Given the description of an element on the screen output the (x, y) to click on. 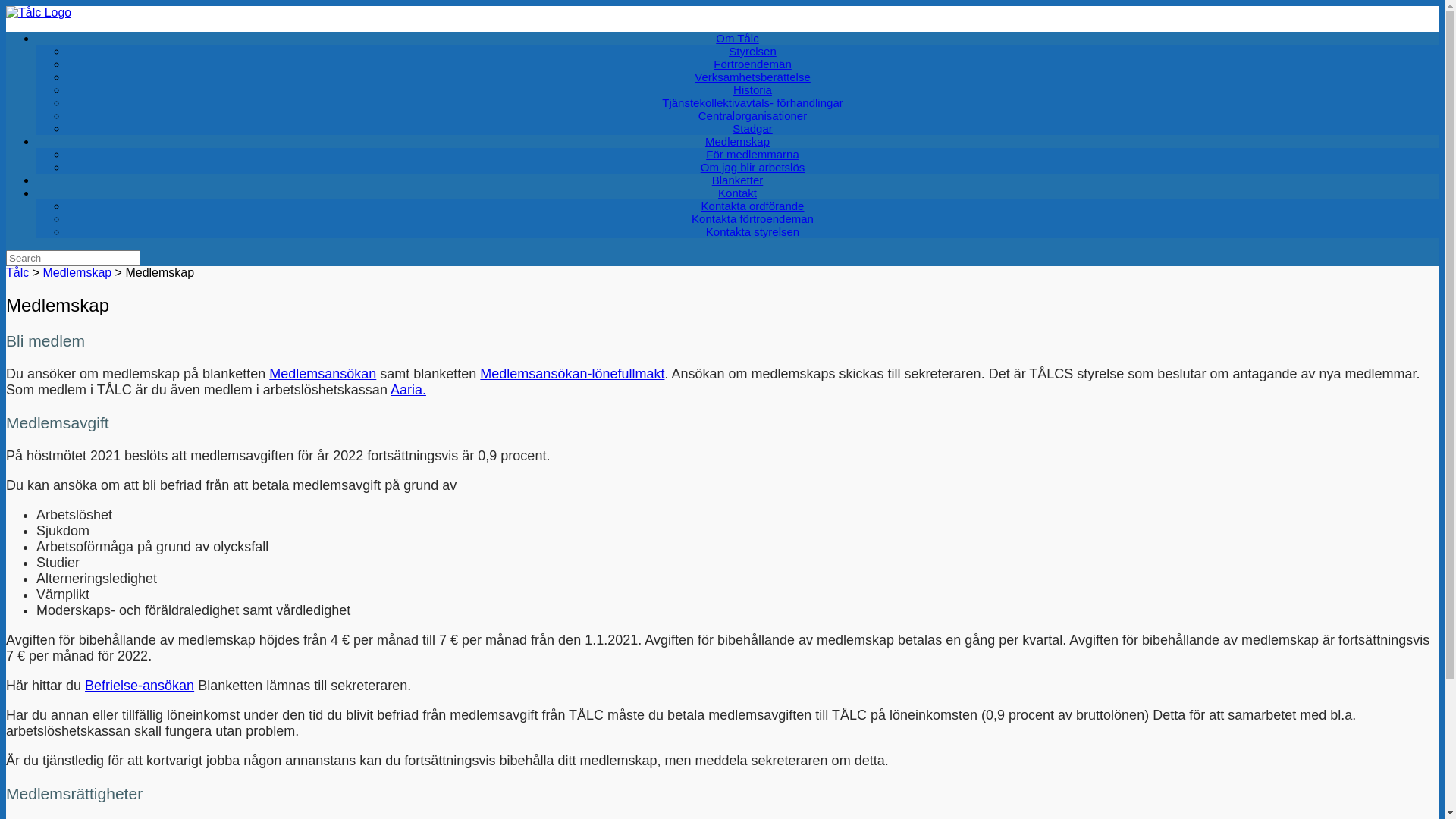
Stadgar Element type: text (752, 128)
Centralorganisationer Element type: text (752, 115)
Skip to content Element type: text (5, 5)
Blanketter Element type: text (737, 179)
Historia Element type: text (752, 89)
Aaria. Element type: text (408, 389)
Kontakt Element type: text (737, 192)
Kontakta styrelsen Element type: text (752, 231)
Styrelsen Element type: text (752, 50)
Medlemskap Element type: text (76, 272)
Medlemskap Element type: text (737, 140)
